Given the description of an element on the screen output the (x, y) to click on. 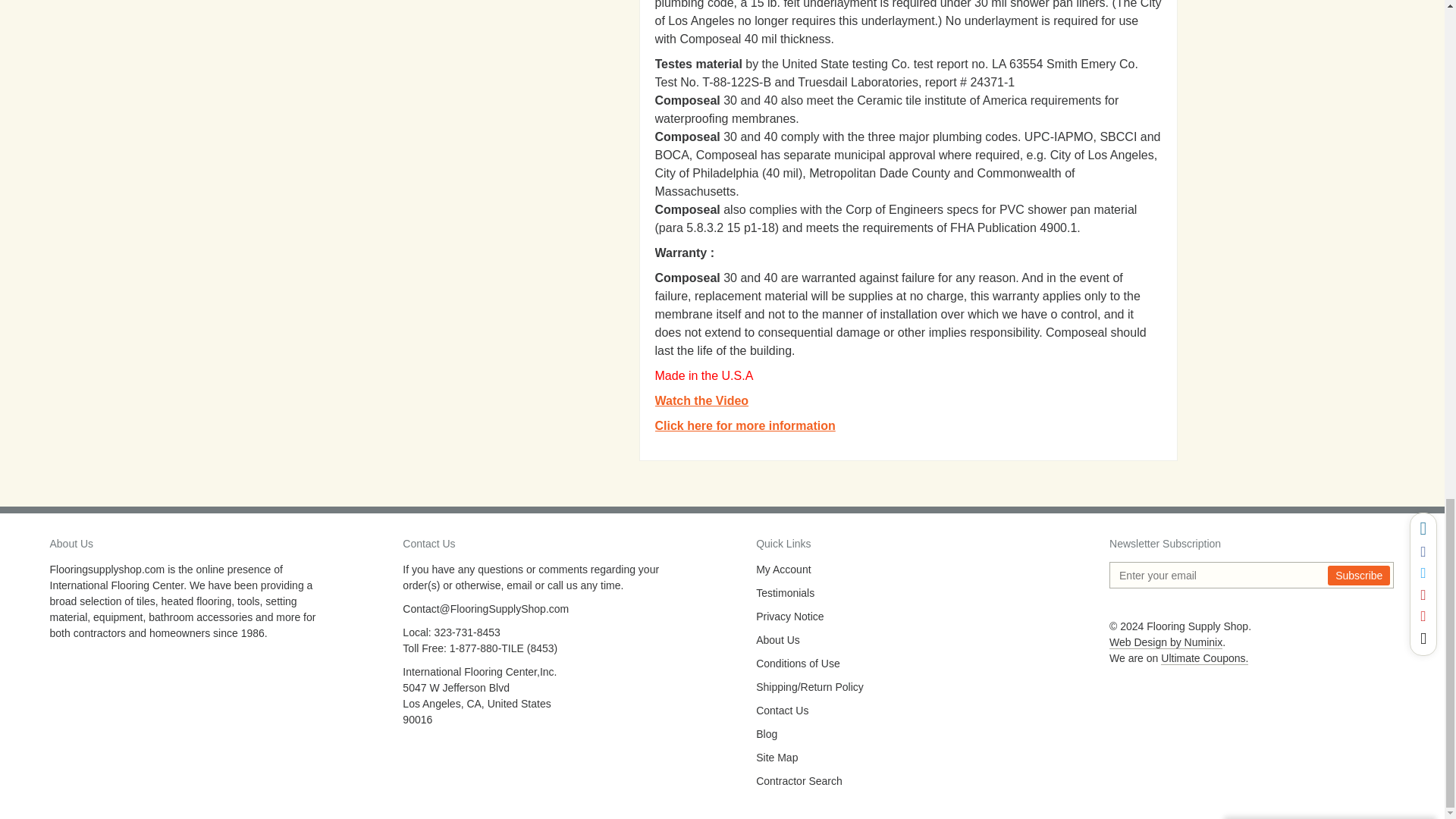
Composeal Blue Vinyl Shower Pan Membrane (702, 400)
Composeal Blue Vinyl Shower Pan Membrane (745, 425)
Flooring Supply Shop coupons (1203, 658)
